Given the description of an element on the screen output the (x, y) to click on. 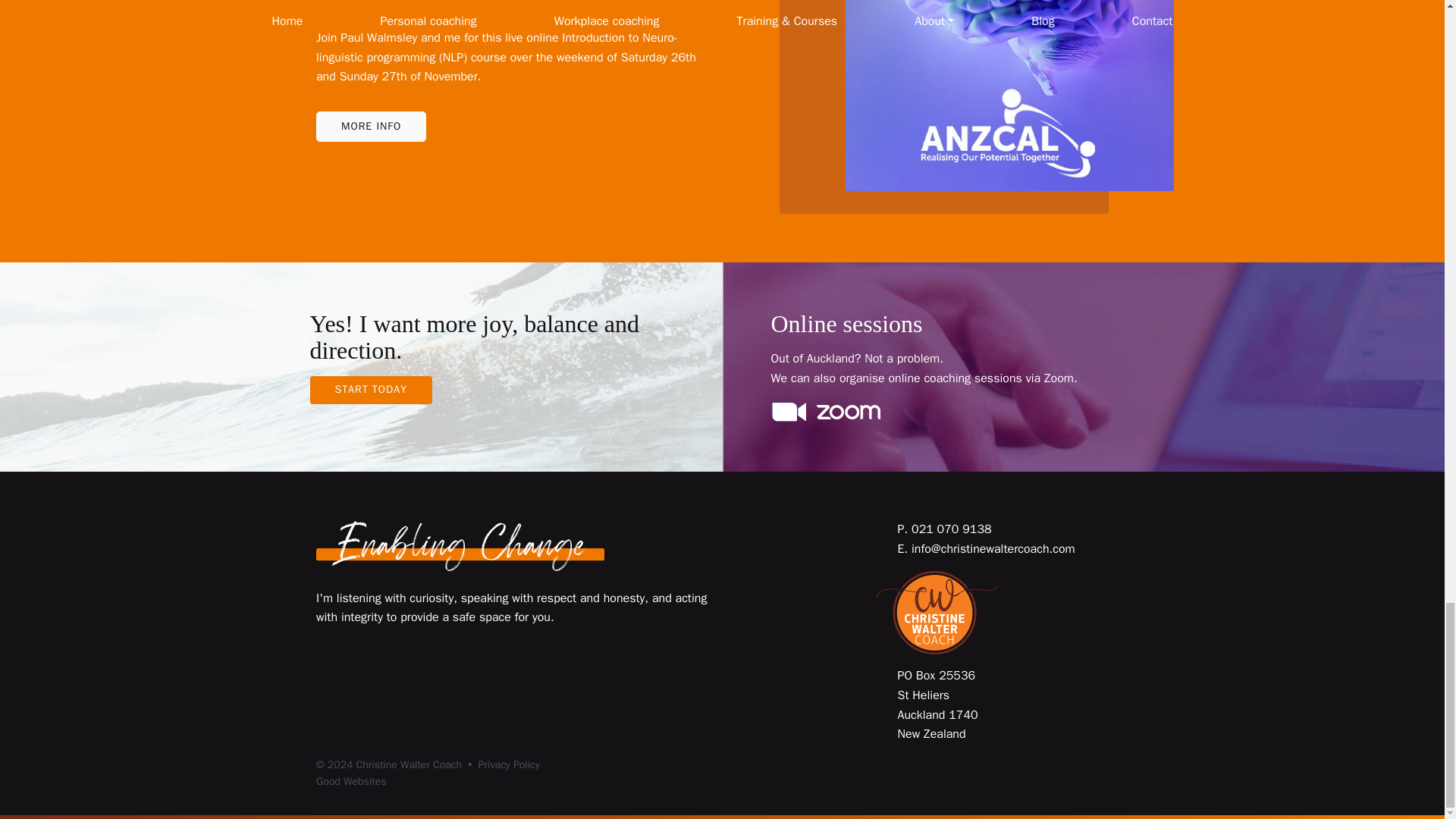
MORE INFO (370, 126)
START TODAY (370, 389)
Privacy Policy (509, 764)
Good Websites (351, 780)
